Given the description of an element on the screen output the (x, y) to click on. 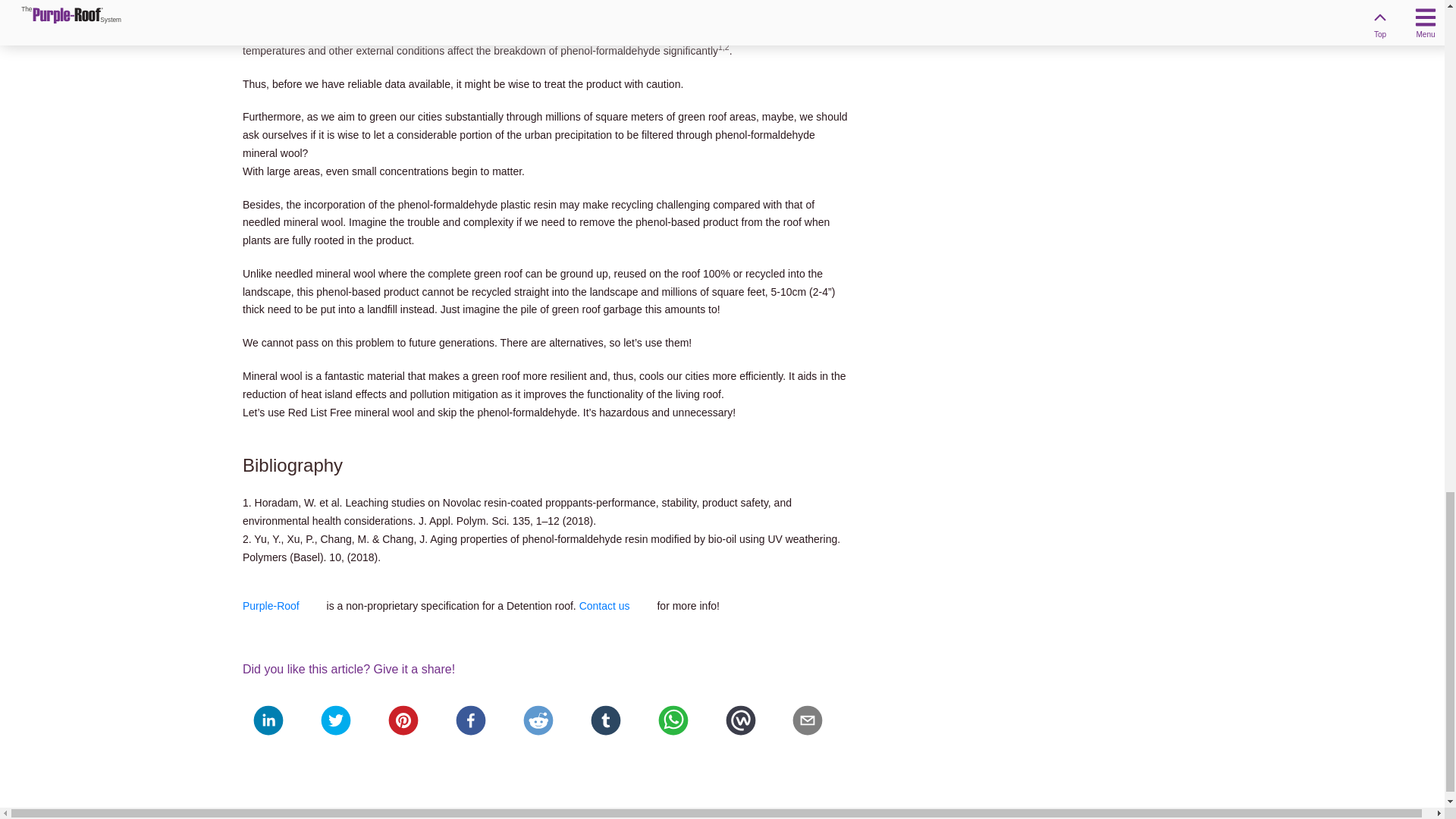
Contact Purple-Roof (616, 605)
Purple-Roof HOME! (283, 605)
Purple-Roof (283, 605)
Contact us (616, 605)
